Given the description of an element on the screen output the (x, y) to click on. 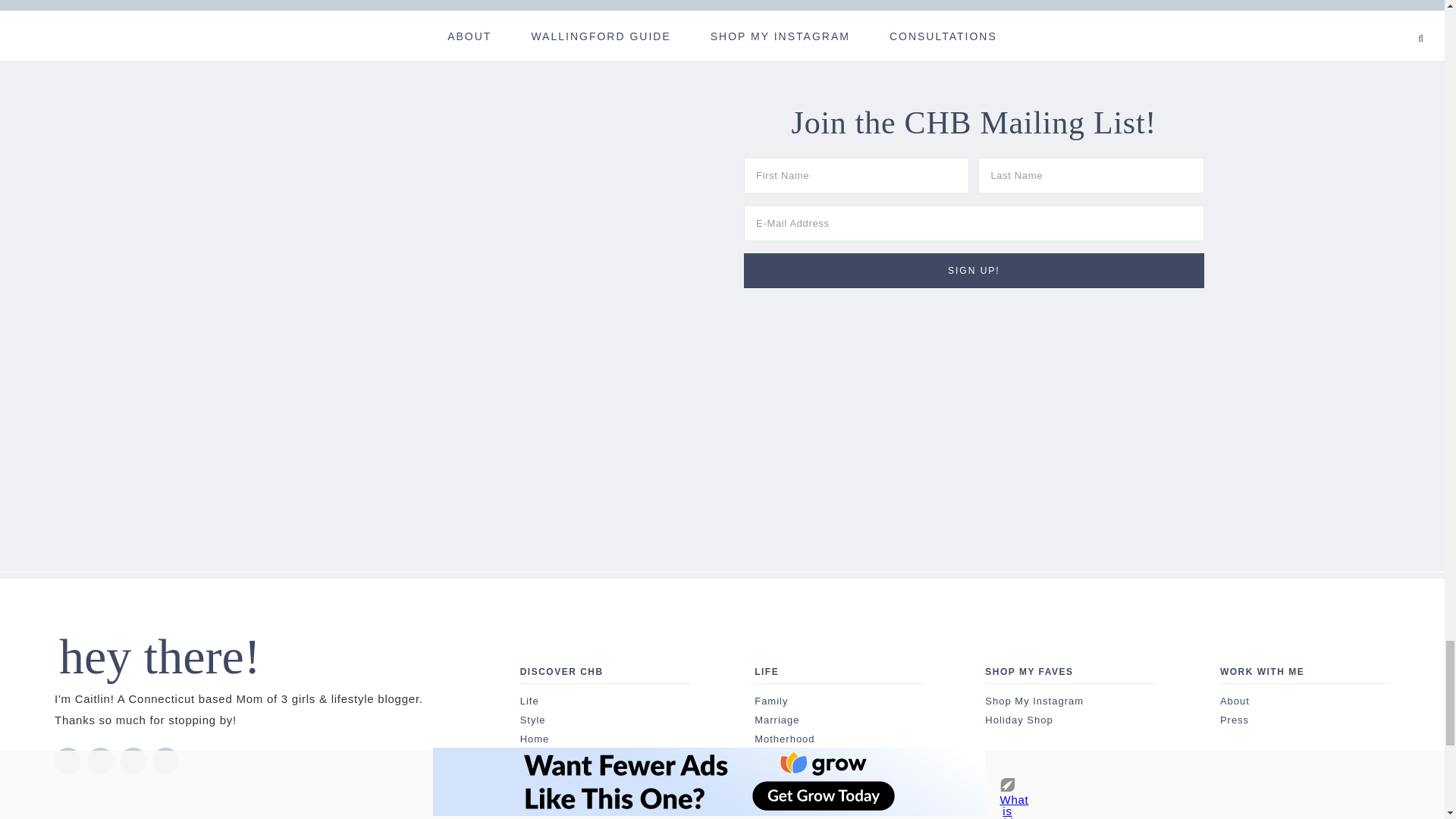
Sign Up! (974, 270)
